Given the description of an element on the screen output the (x, y) to click on. 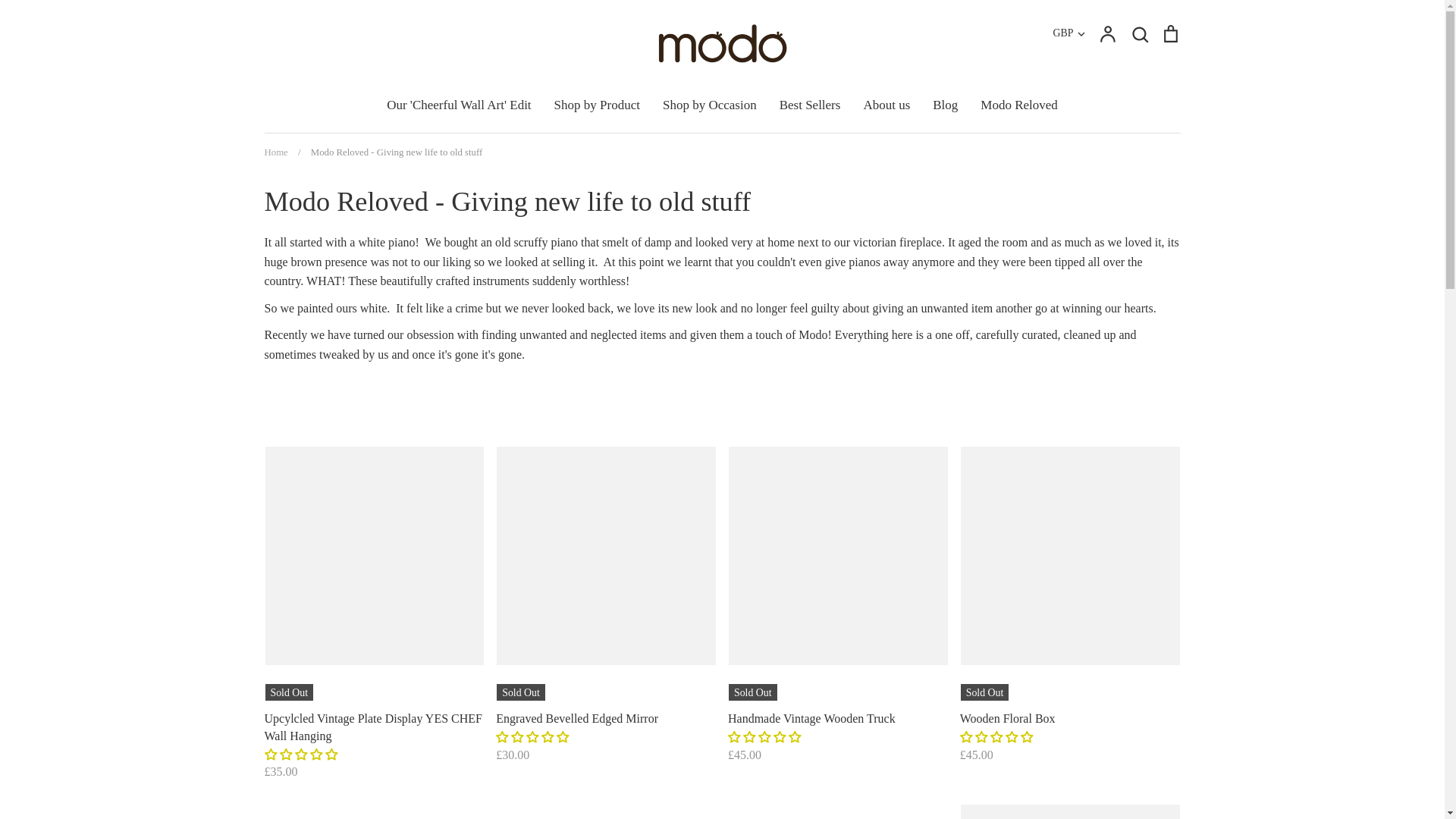
Shop by Product (597, 104)
Search (1139, 33)
Our 'Cheerful Wall Art' Edit (459, 104)
Account (1107, 33)
Cart (1169, 33)
